Given the description of an element on the screen output the (x, y) to click on. 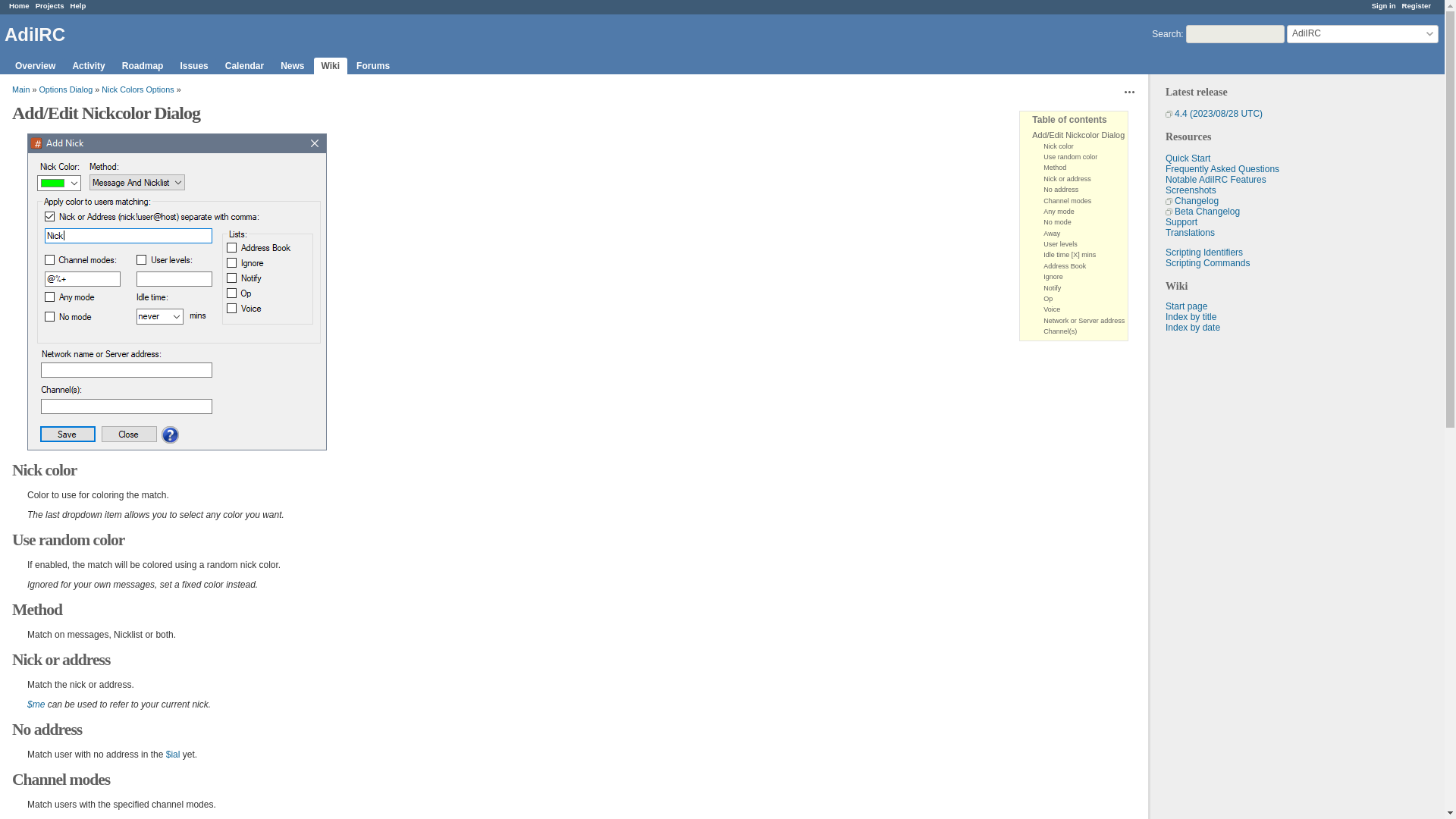
Wiki (330, 65)
Quick Start (1187, 158)
Index by title (1190, 317)
Beta Changelog (1203, 211)
Nick Colors Options (137, 89)
Search (1165, 33)
Projects (49, 5)
Translations (1190, 232)
Overview (34, 65)
Calendar (243, 65)
Main (20, 89)
Changelog (1192, 200)
Register (1416, 5)
Support (1181, 222)
Actions (1129, 91)
